Given the description of an element on the screen output the (x, y) to click on. 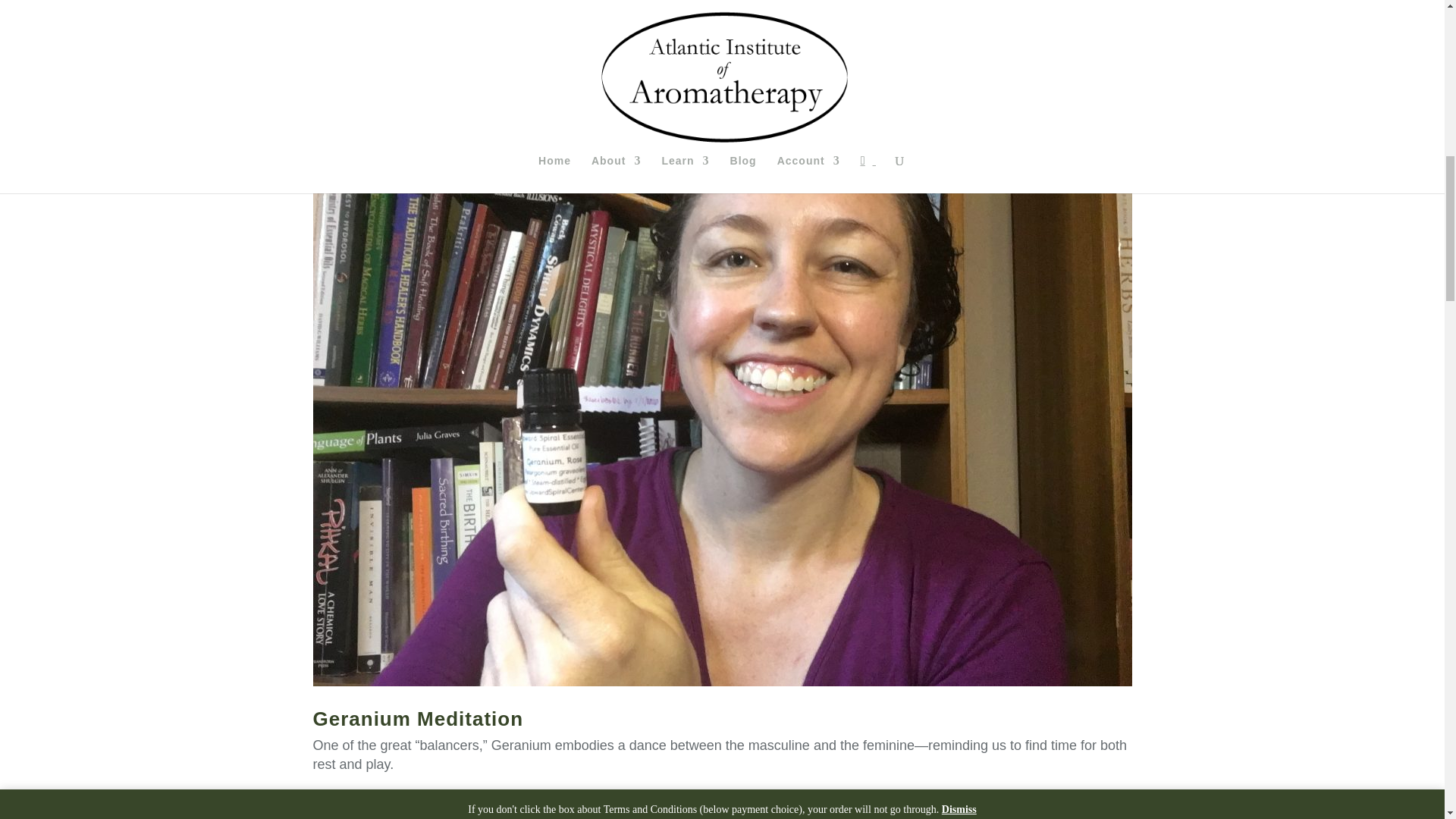
Aromatherapy Practitioner Course (677, 87)
Geranium Meditation (417, 718)
